Given the description of an element on the screen output the (x, y) to click on. 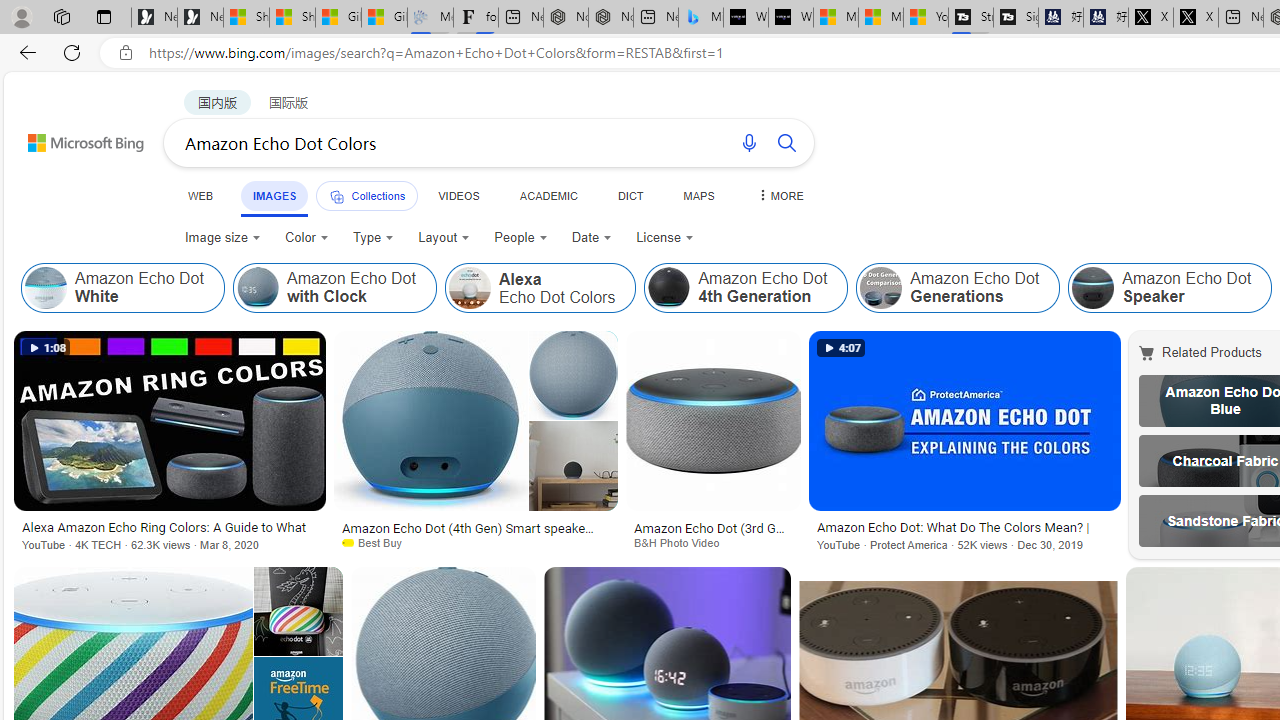
Image result for Amazon Echo Dot Colors (298, 611)
Newsletter Sign Up (199, 17)
Microsoft Start Sports (835, 17)
Amazon Echo Dot 4th Generation (669, 287)
IMAGES (274, 196)
Best Buy (475, 542)
VIDEOS (458, 195)
Best Buy (379, 541)
License (665, 237)
VIDEOS (458, 195)
